Given the description of an element on the screen output the (x, y) to click on. 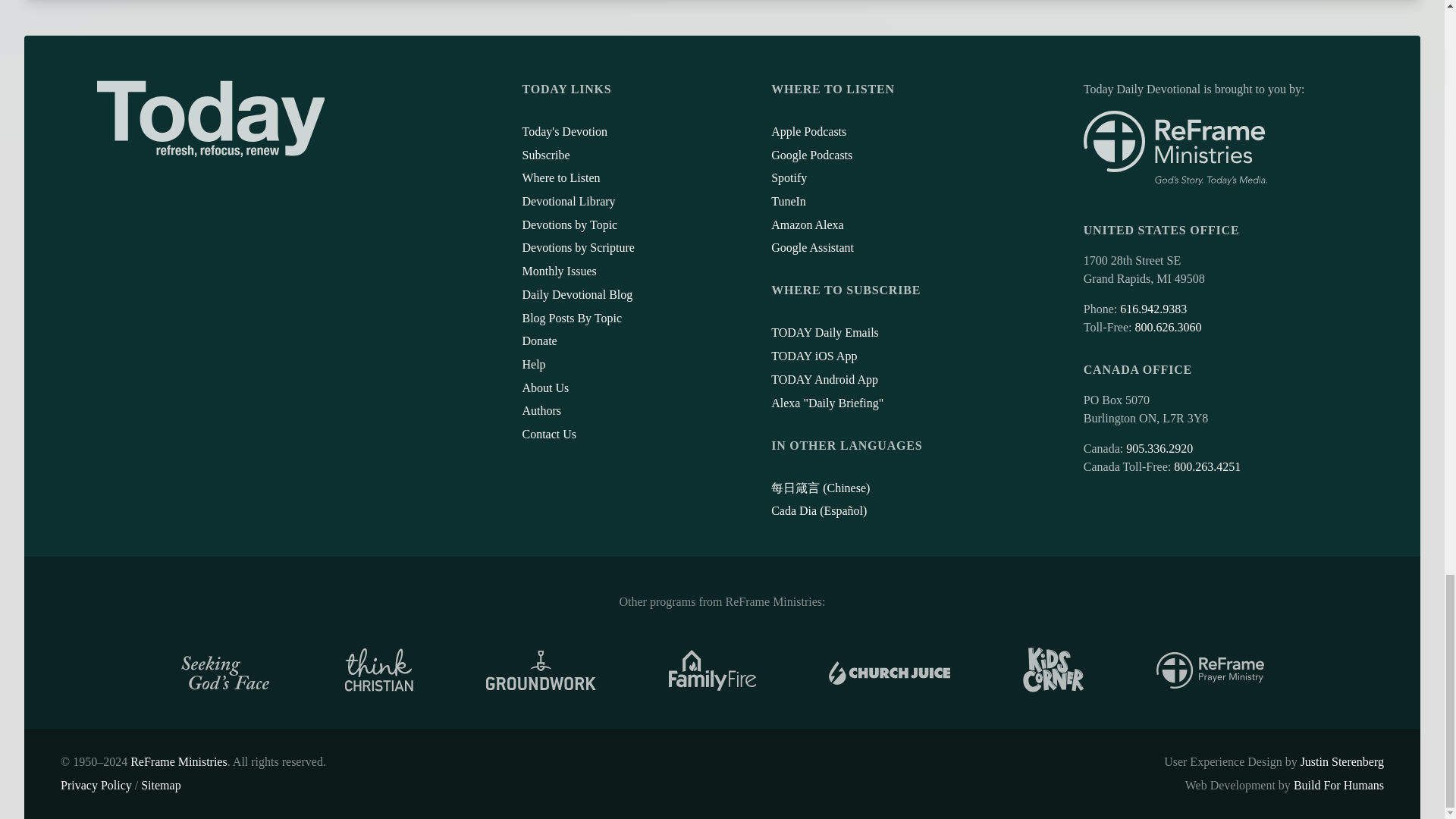
Today Daily Devotional (210, 119)
Church Juice - Energizing Church Communications (888, 669)
ReFrame Ministries: God's story. Today's media. (1174, 147)
Monthly Issues (558, 270)
Help (532, 364)
Prayer Ministry (1209, 669)
Blog Posts By Topic (571, 318)
Devotions by Topic (569, 224)
Daily Devotional Blog (576, 294)
Devotions by Scripture (577, 246)
Where to Listen (560, 177)
Today's Devotion (564, 131)
Subscribe (545, 154)
